Given the description of an element on the screen output the (x, y) to click on. 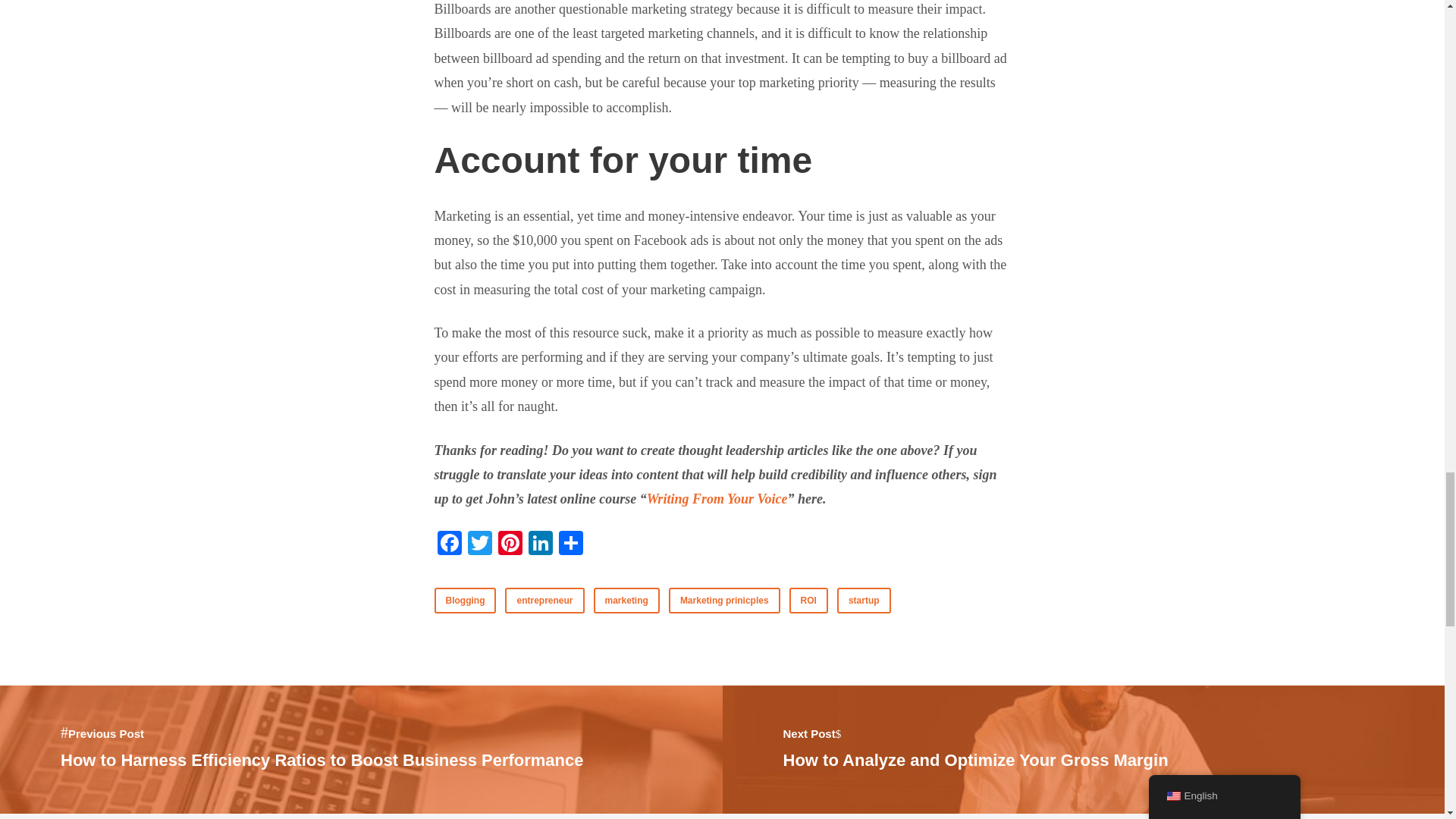
Twitter (479, 544)
Pinterest (509, 544)
Marketing prinicples (724, 601)
Blogging (464, 601)
Pinterest (1083, 751)
ROI (509, 544)
Twitter (808, 601)
entrepreneur (479, 544)
Share (544, 601)
marketing (569, 544)
LinkedIn (626, 601)
Writing From Your Voice (539, 544)
Facebook (716, 498)
